Given the description of an element on the screen output the (x, y) to click on. 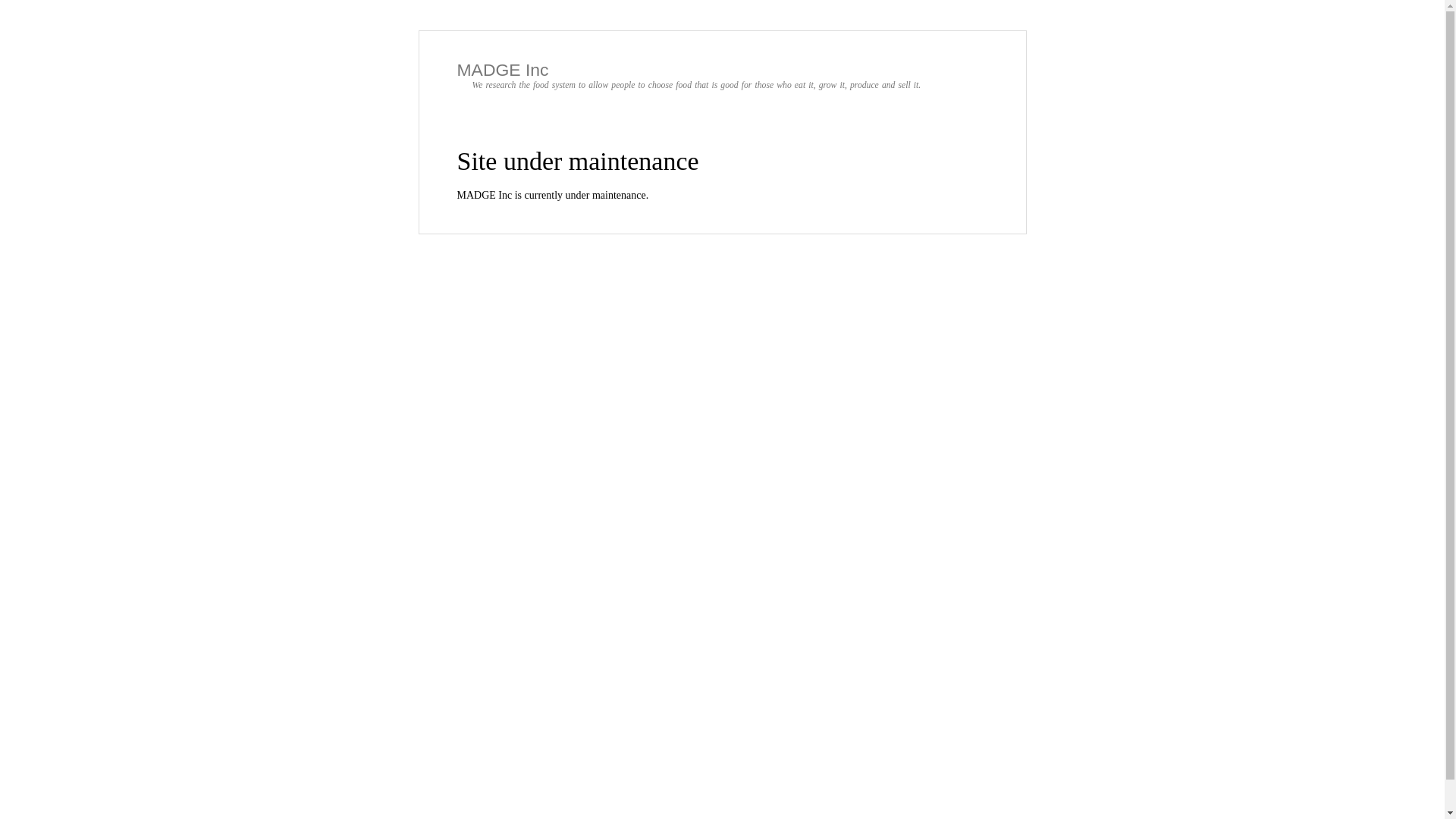
MADGE Inc Element type: text (502, 69)
Skip to main content Element type: text (690, 31)
